Given the description of an element on the screen output the (x, y) to click on. 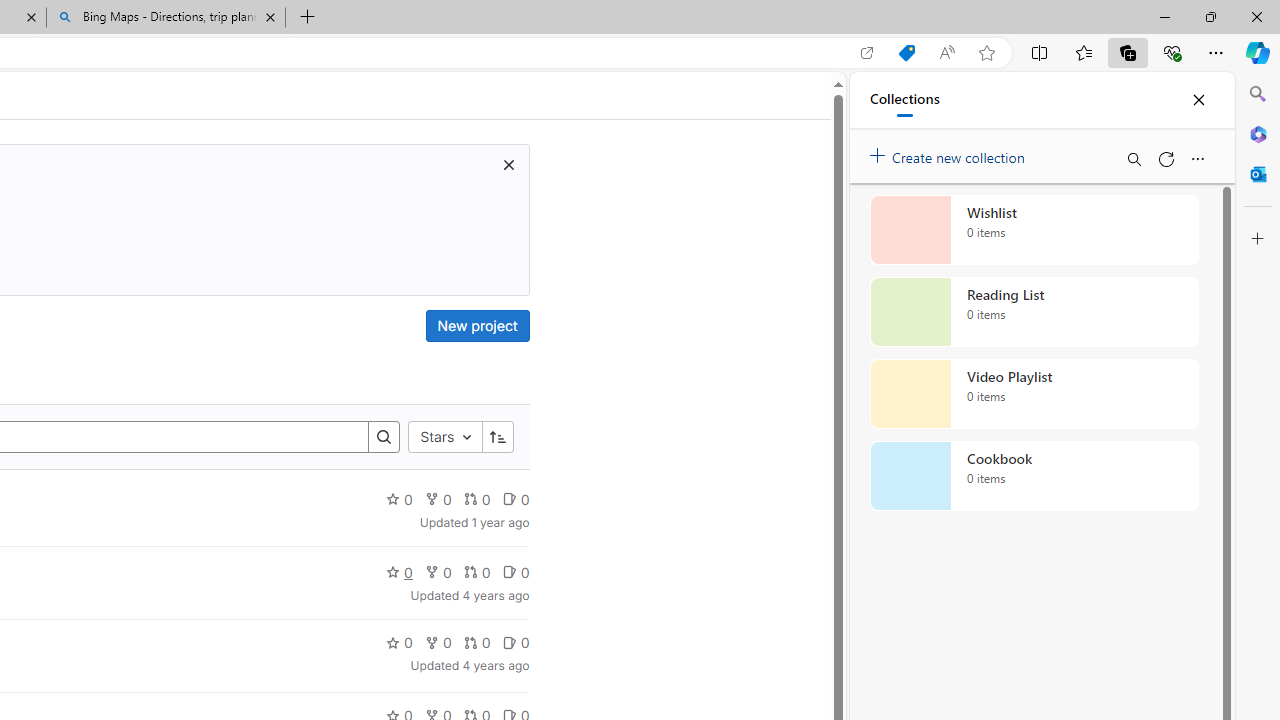
Cookbook collection, 0 items (1034, 475)
Sort direction: Ascending (497, 437)
